Given the description of an element on the screen output the (x, y) to click on. 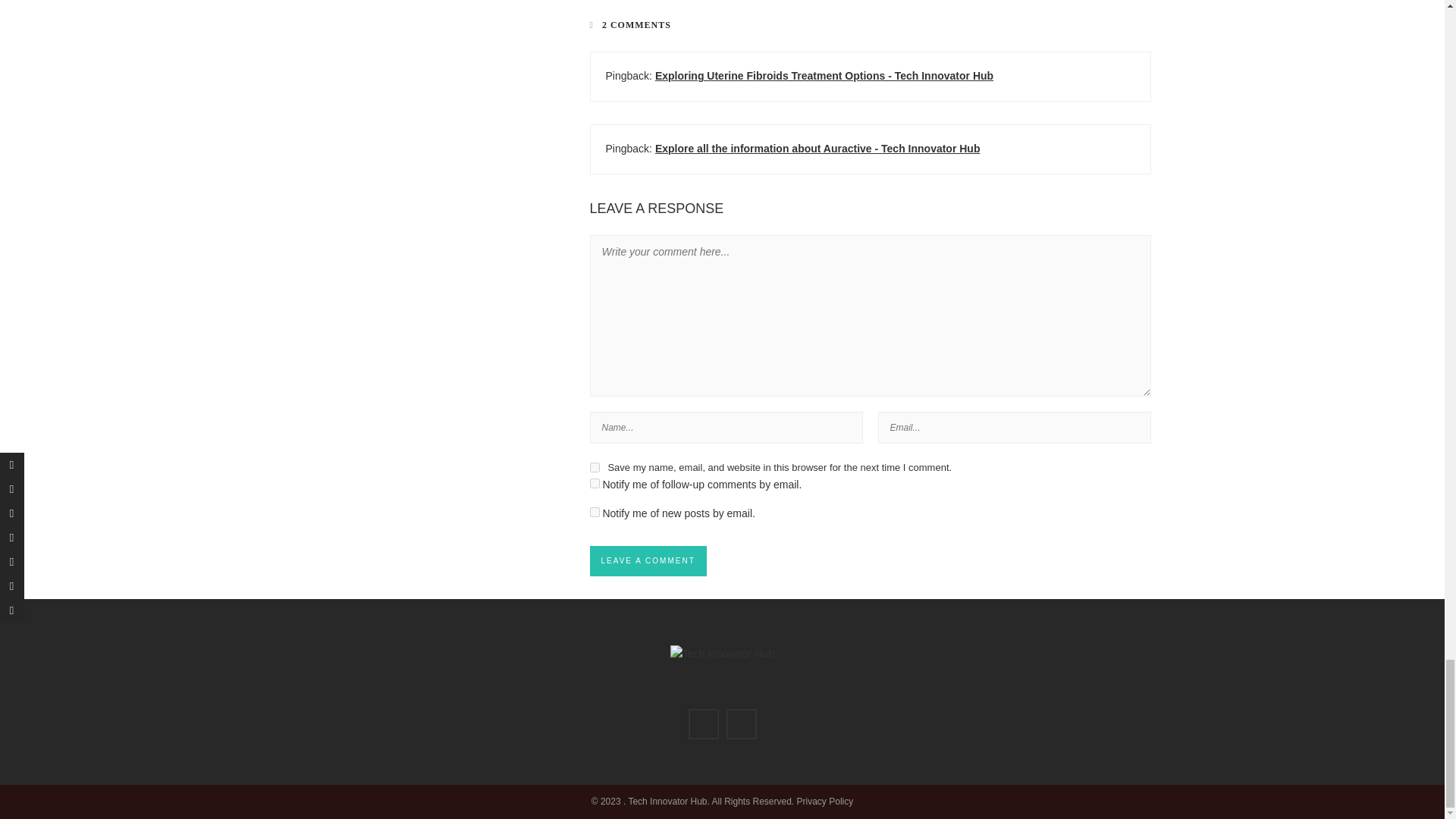
Leave a comment (647, 561)
subscribe (594, 483)
subscribe (594, 511)
yes (594, 467)
